Given the description of an element on the screen output the (x, y) to click on. 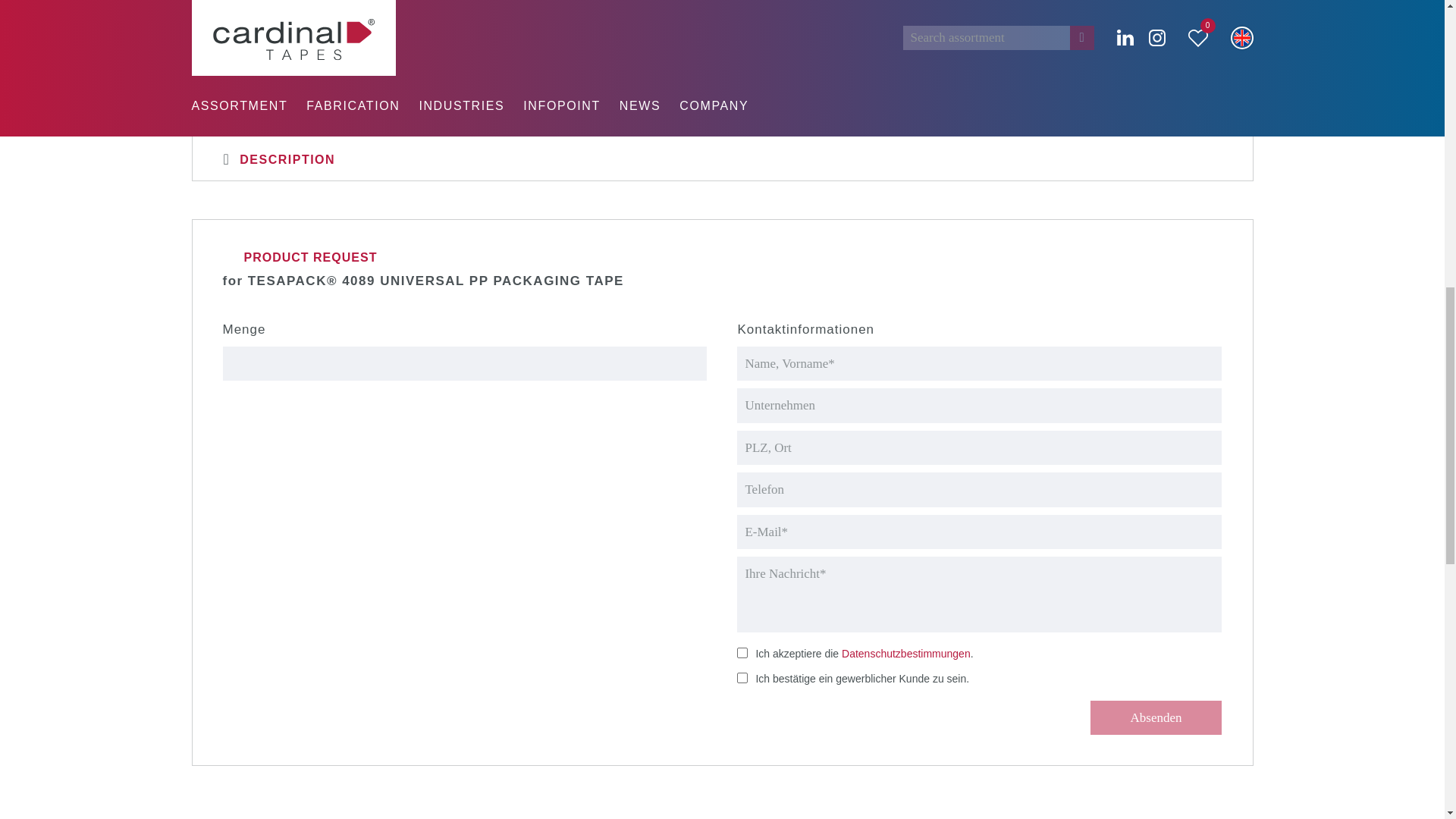
1 (742, 677)
1 (742, 652)
Absenden (1156, 718)
